Given the description of an element on the screen output the (x, y) to click on. 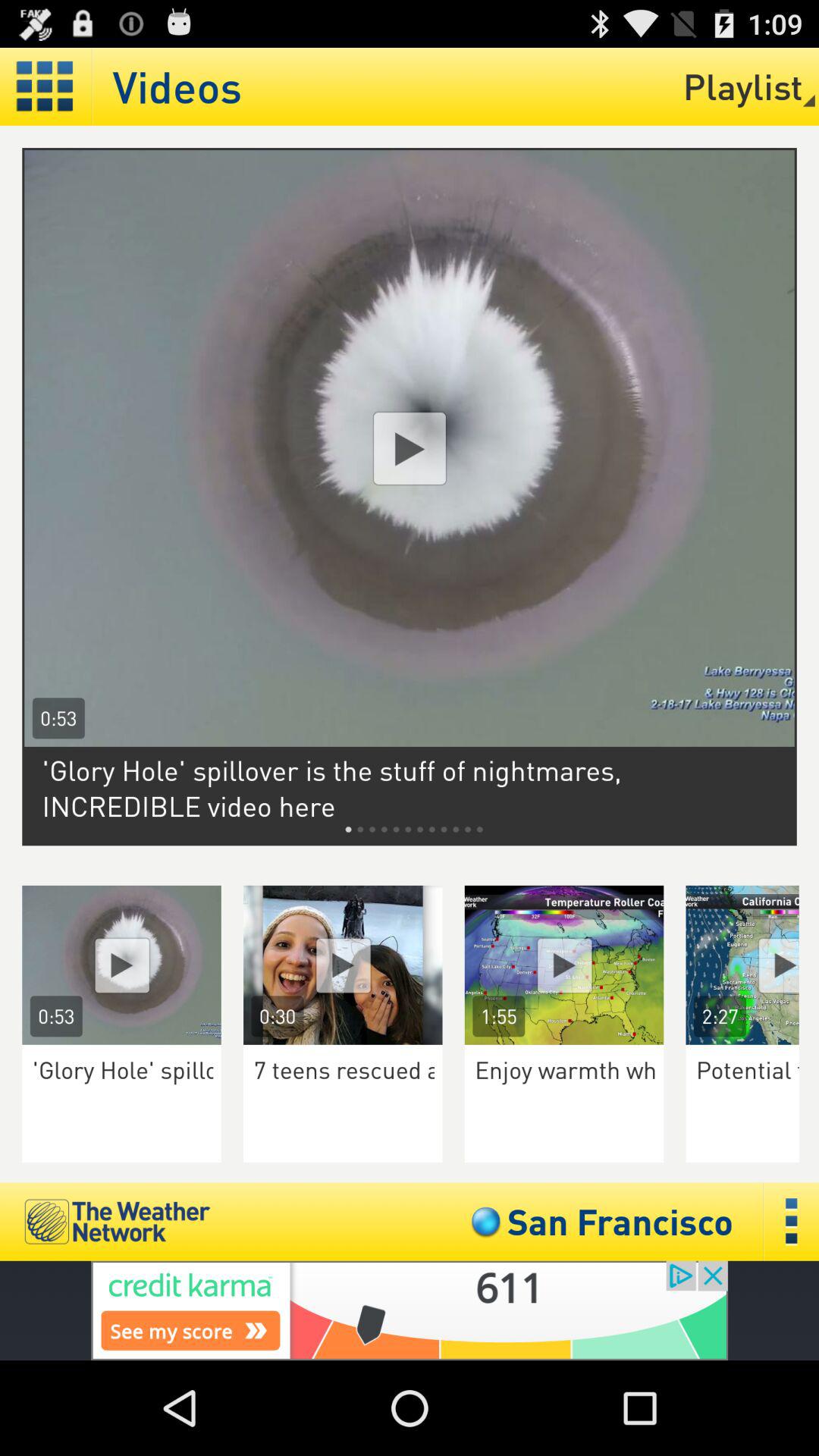
open video (342, 964)
